Given the description of an element on the screen output the (x, y) to click on. 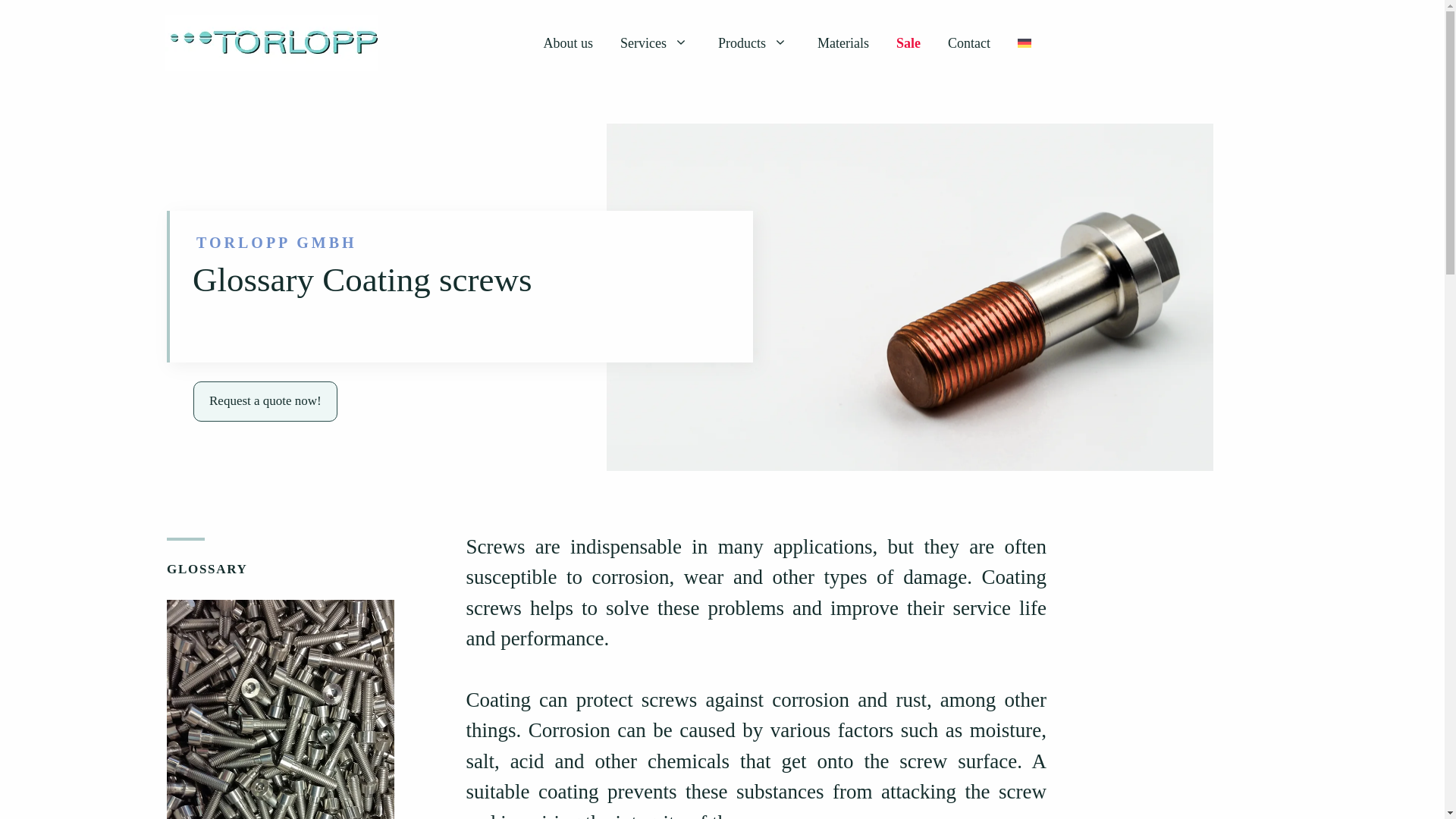
Sale (908, 42)
About us (568, 42)
Materials (842, 42)
Services (655, 42)
titanium-screws-material-ti-gr2 (280, 709)
Contact (969, 42)
Products (753, 42)
